Given the description of an element on the screen output the (x, y) to click on. 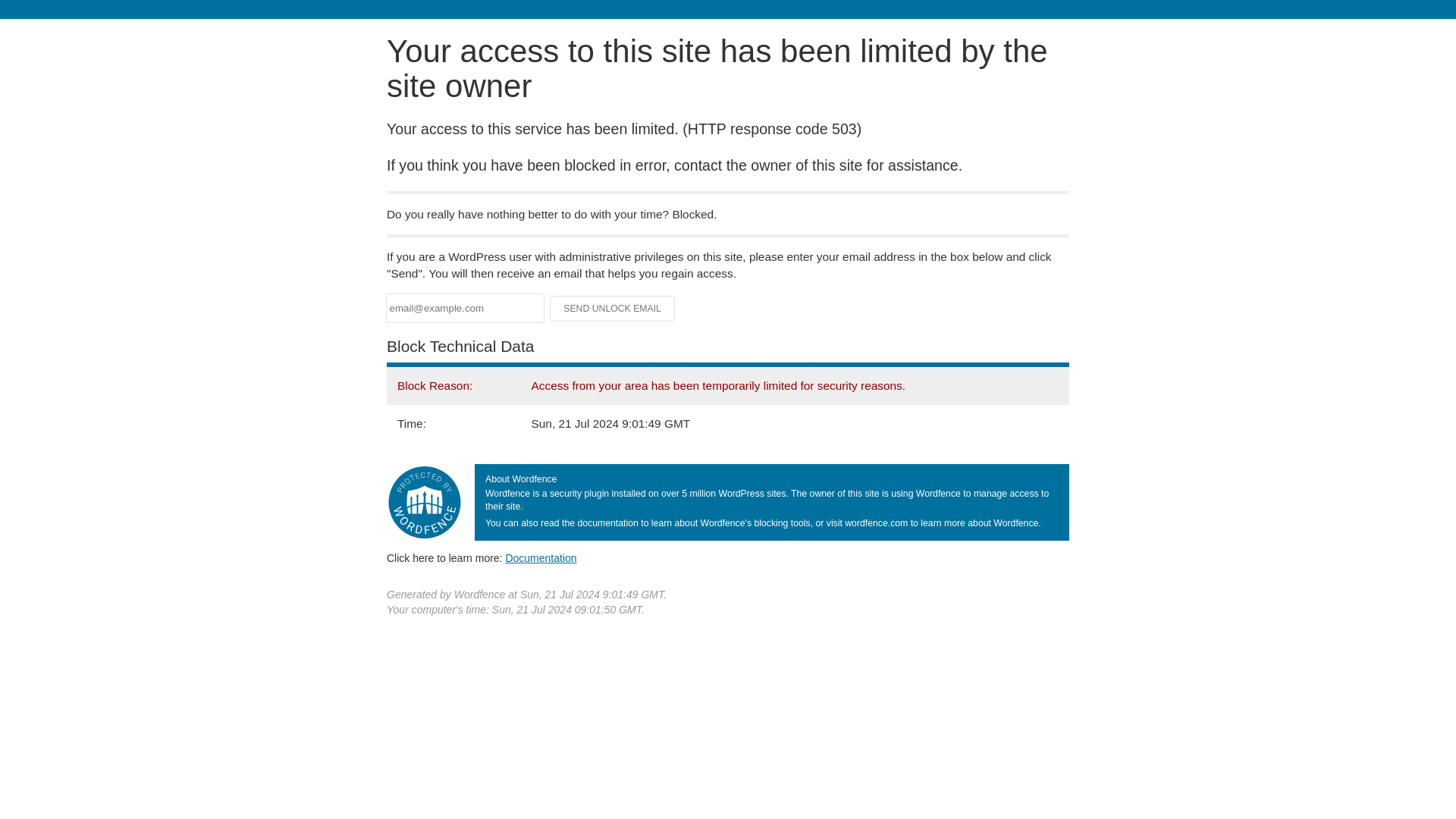
Send Unlock Email (612, 308)
Documentation (540, 558)
Send Unlock Email (612, 308)
